Given the description of an element on the screen output the (x, y) to click on. 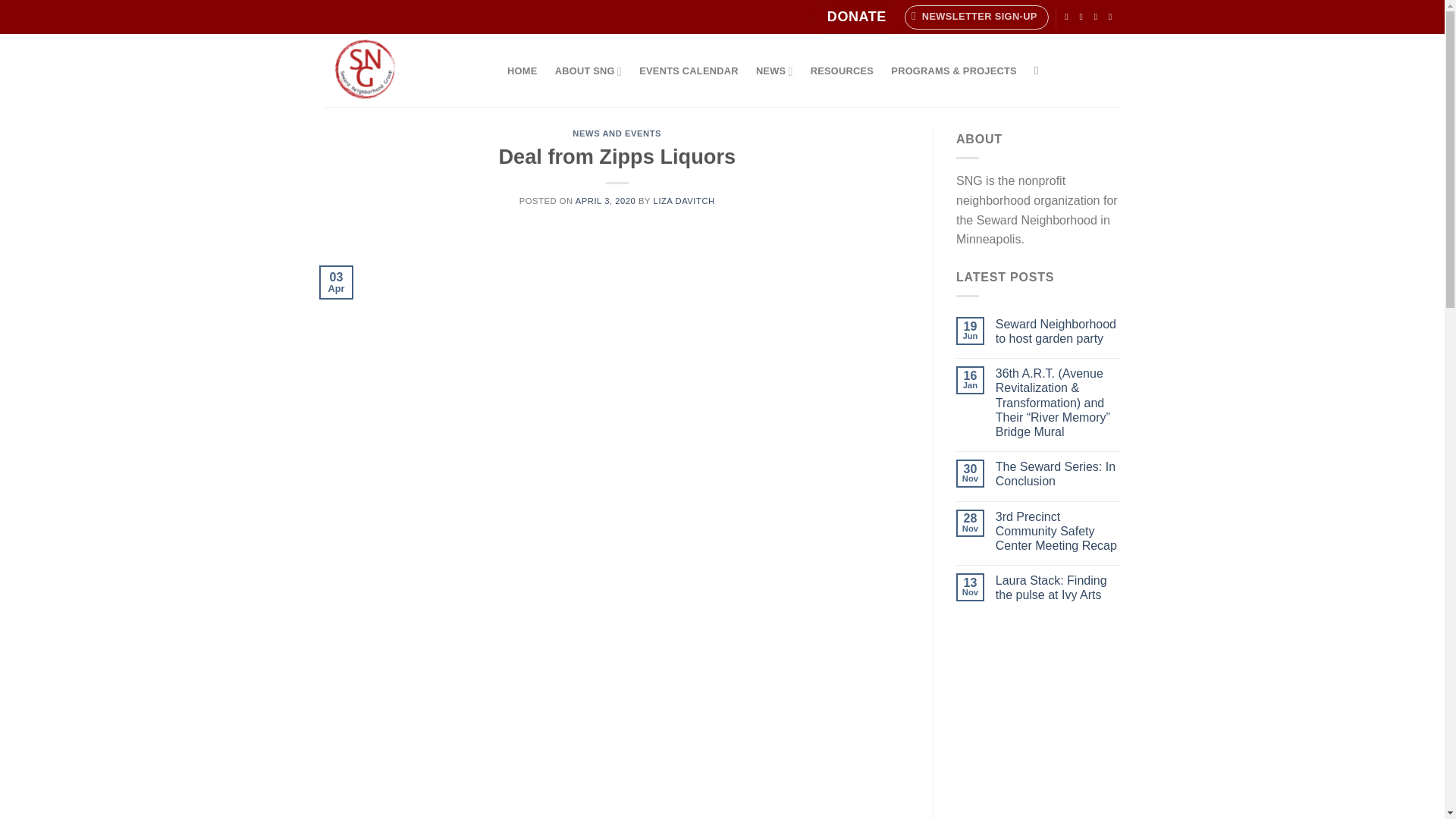
NEWS (774, 71)
Seward Neighborhood Group (400, 70)
HOME (523, 70)
NEWSLETTER SIGN-UP (976, 16)
NEWS AND EVENTS (616, 133)
Subscribe to our Newsletter (976, 16)
RESOURCES (842, 70)
APRIL 3, 2020 (605, 200)
DONATE (855, 17)
EVENTS CALENDAR (689, 70)
ABOUT SNG (588, 71)
LIZA DAVITCH (683, 200)
